Given the description of an element on the screen output the (x, y) to click on. 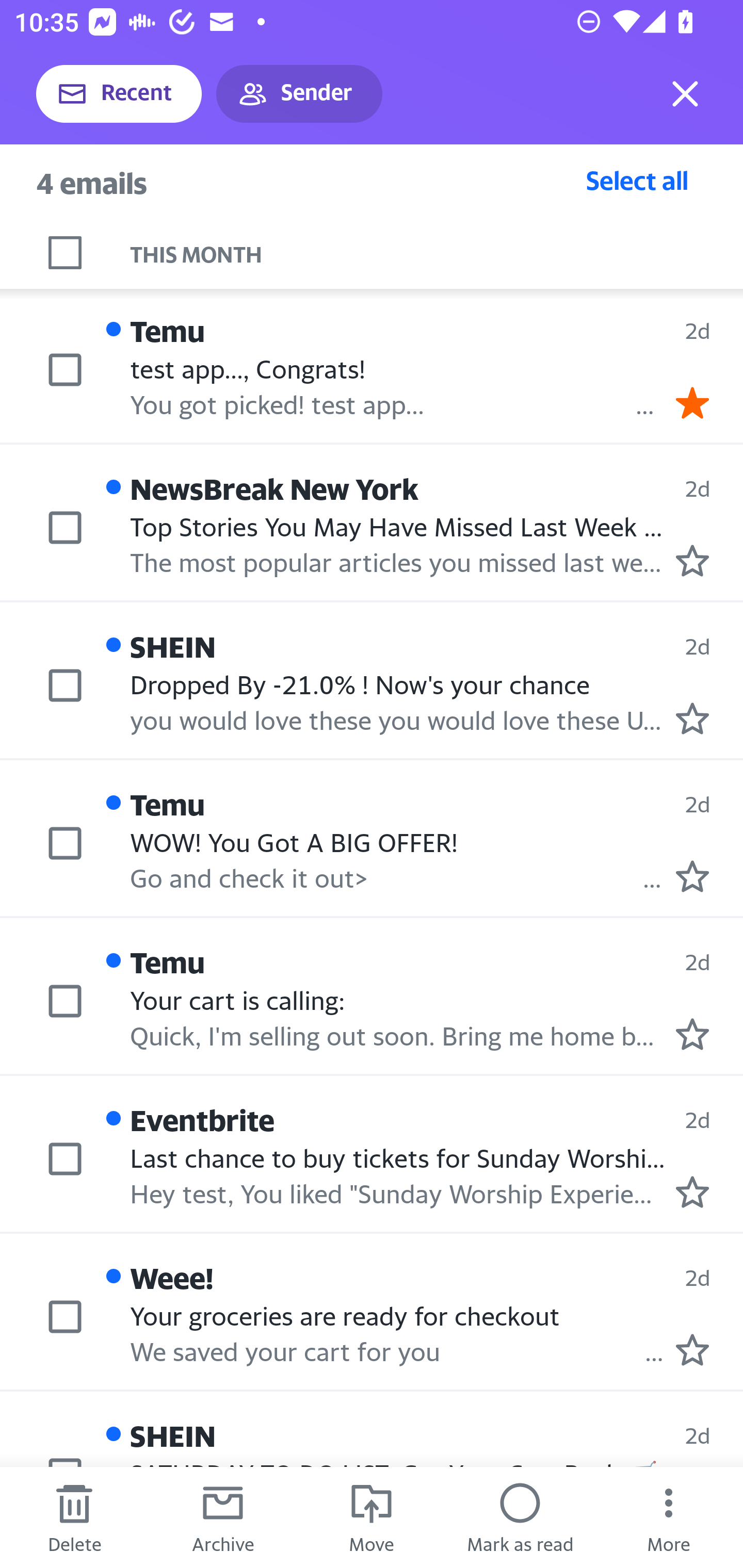
Sender (299, 93)
Exit selection mode (684, 93)
Select all (637, 180)
Remove star. (692, 402)
Mark as starred. (692, 560)
Mark as starred. (692, 718)
Mark as starred. (692, 875)
Mark as starred. (692, 1034)
Mark as starred. (692, 1192)
Mark as starred. (692, 1349)
Delete (74, 1517)
Archive (222, 1517)
Move (371, 1517)
Mark as read (519, 1517)
More (668, 1517)
